Given the description of an element on the screen output the (x, y) to click on. 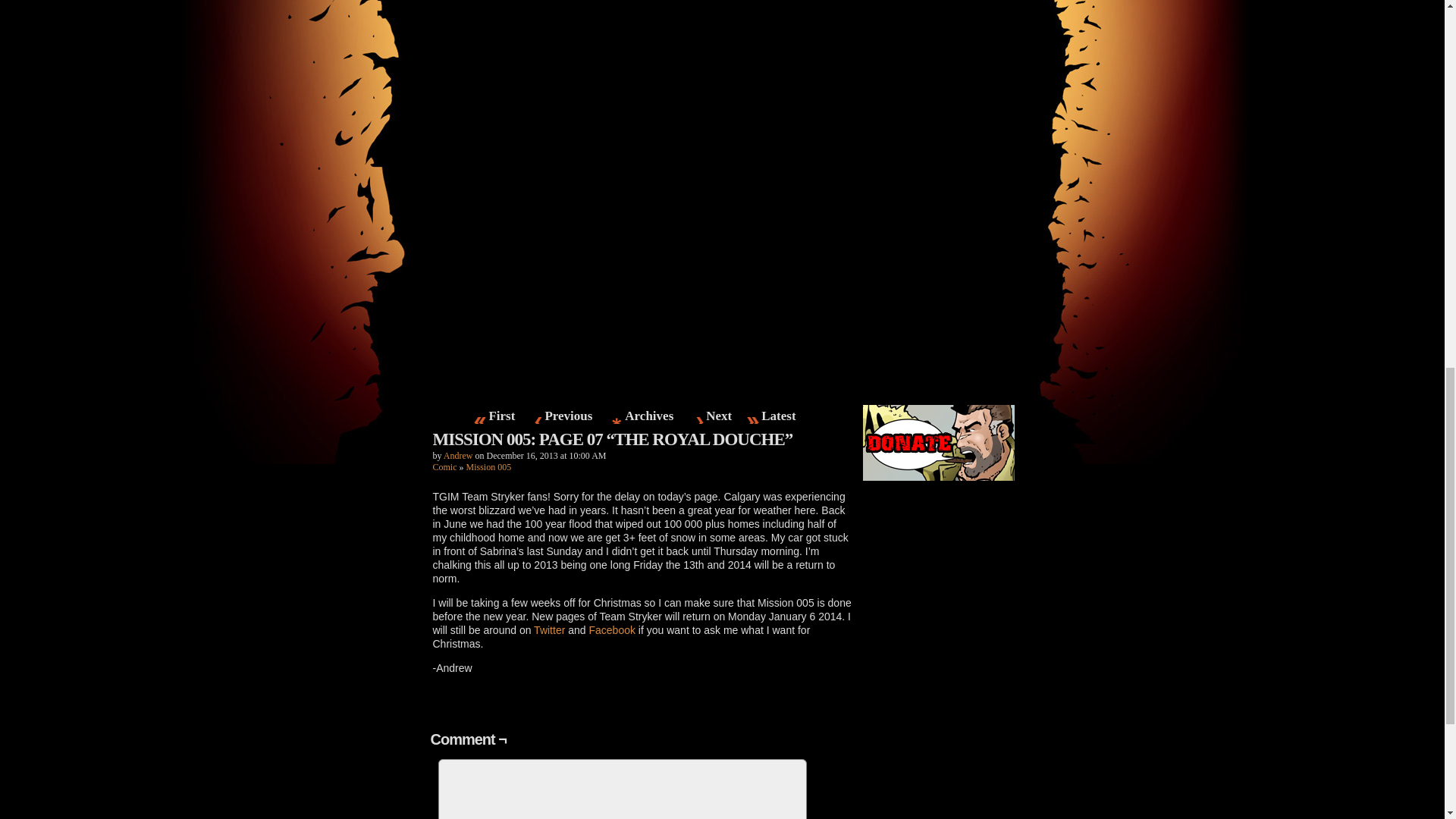
Andrew on Twitter (549, 630)
Mission 005 (488, 466)
First (501, 416)
Facebook (611, 630)
Previous (568, 416)
Latest (778, 416)
Facebook (938, 512)
Andrew (458, 455)
Twitter (549, 630)
First (501, 416)
